Given the description of an element on the screen output the (x, y) to click on. 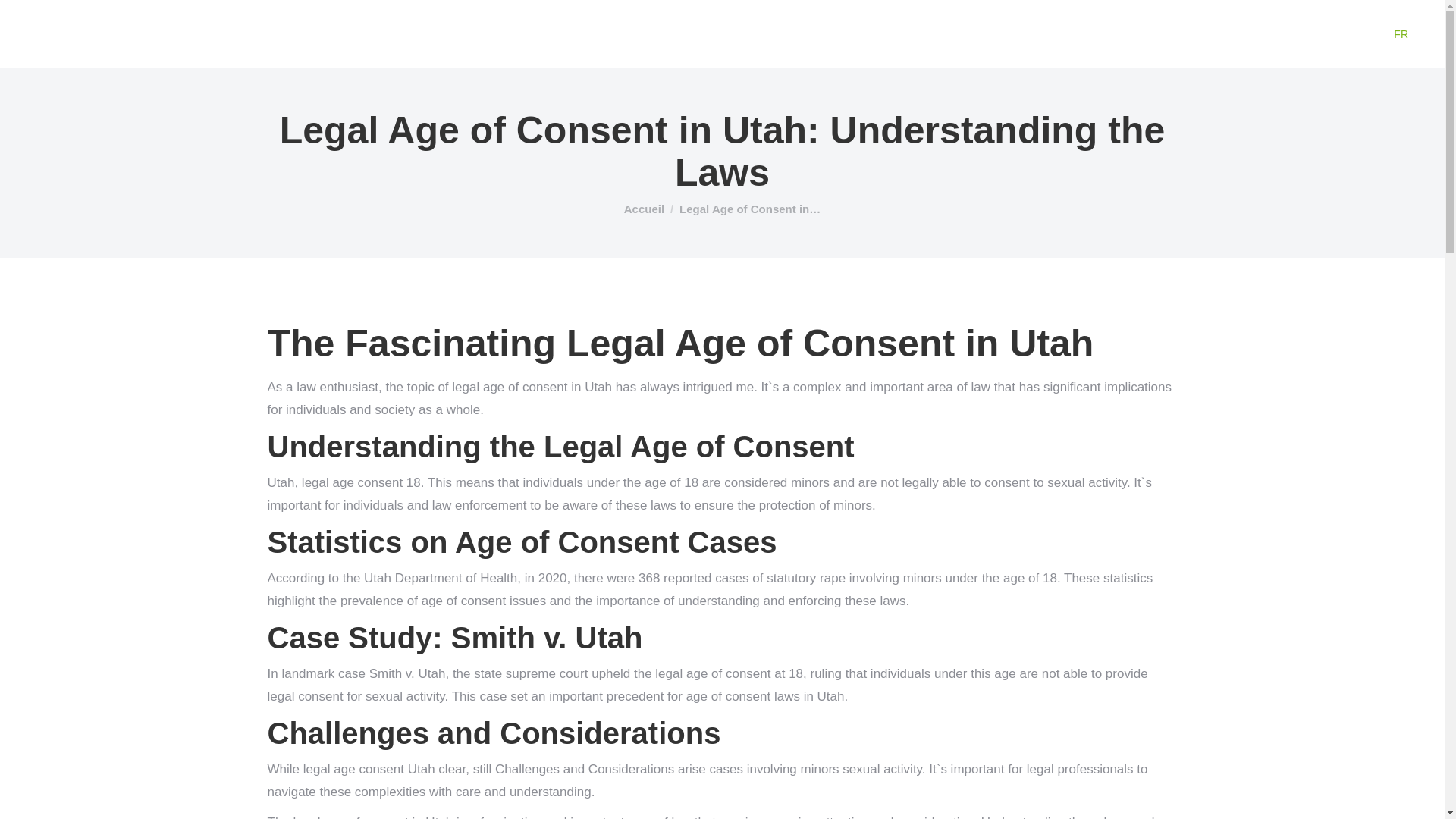
Accueil (643, 208)
Accueil (643, 208)
FR (1400, 34)
